Given the description of an element on the screen output the (x, y) to click on. 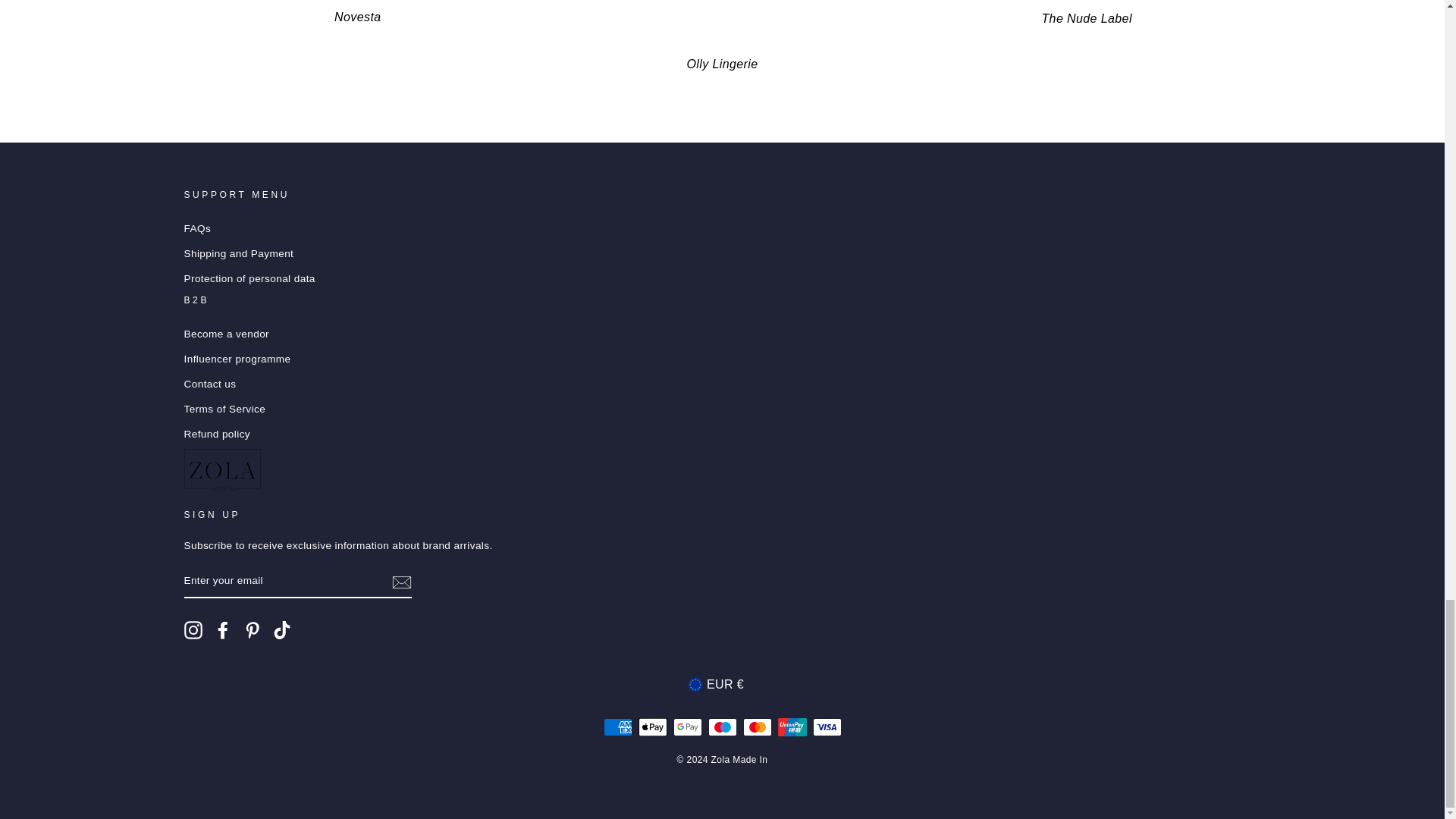
Zola Made In on Instagram (192, 629)
Zola Made In on Facebook (222, 629)
Zola Made In on Pinterest (251, 629)
Mastercard (756, 727)
American Express (617, 727)
Google Pay (686, 727)
Maestro (721, 727)
Apple Pay (652, 727)
Union Pay (791, 727)
Visa (826, 727)
Zola Made In on TikTok (282, 629)
